Given the description of an element on the screen output the (x, y) to click on. 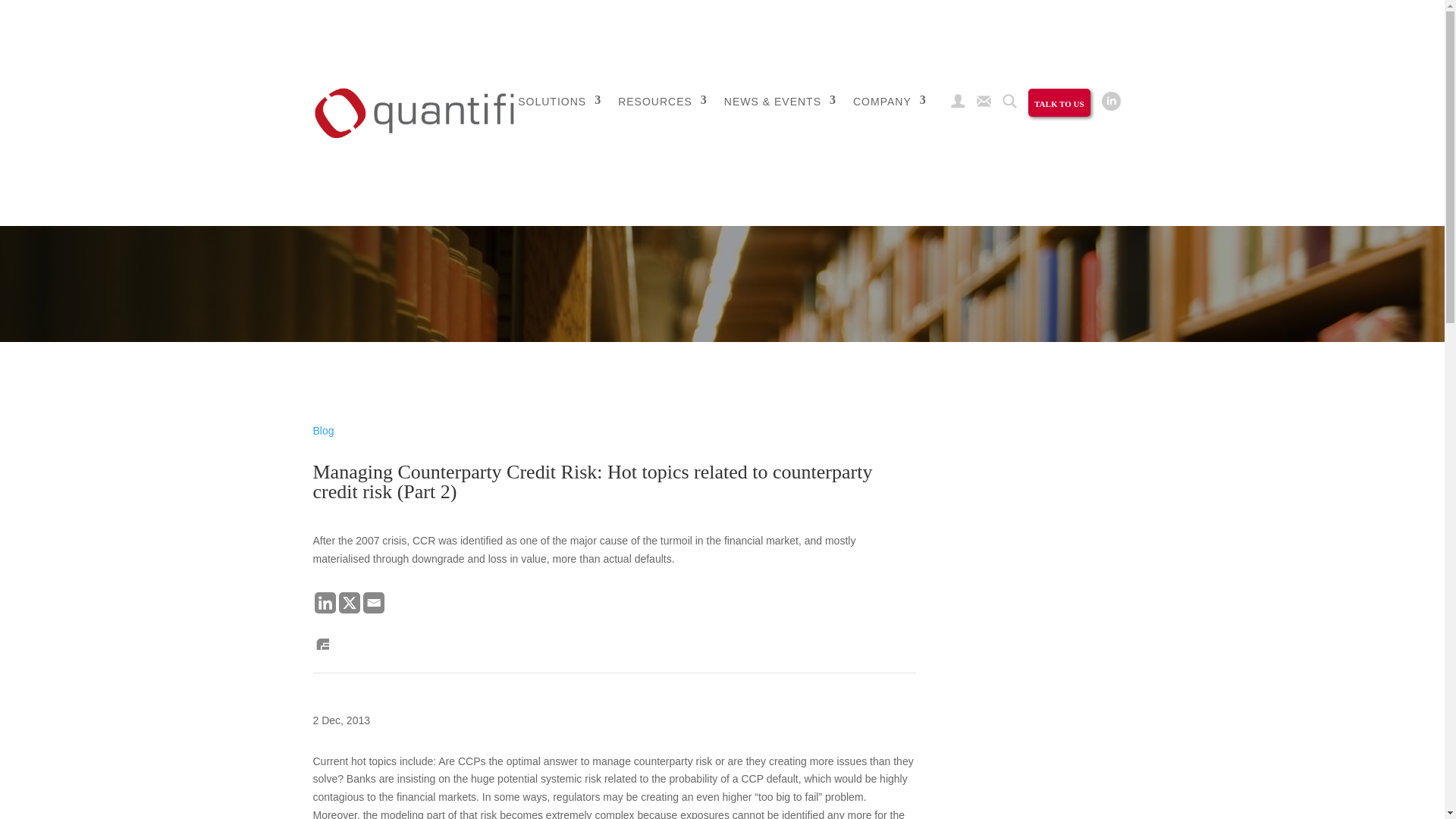
RESOURCES (662, 115)
Quantifi logo (414, 112)
COMPANY (889, 115)
Email (373, 602)
SOLUTIONS (559, 104)
X (348, 602)
Linkedin (324, 602)
